Given the description of an element on the screen output the (x, y) to click on. 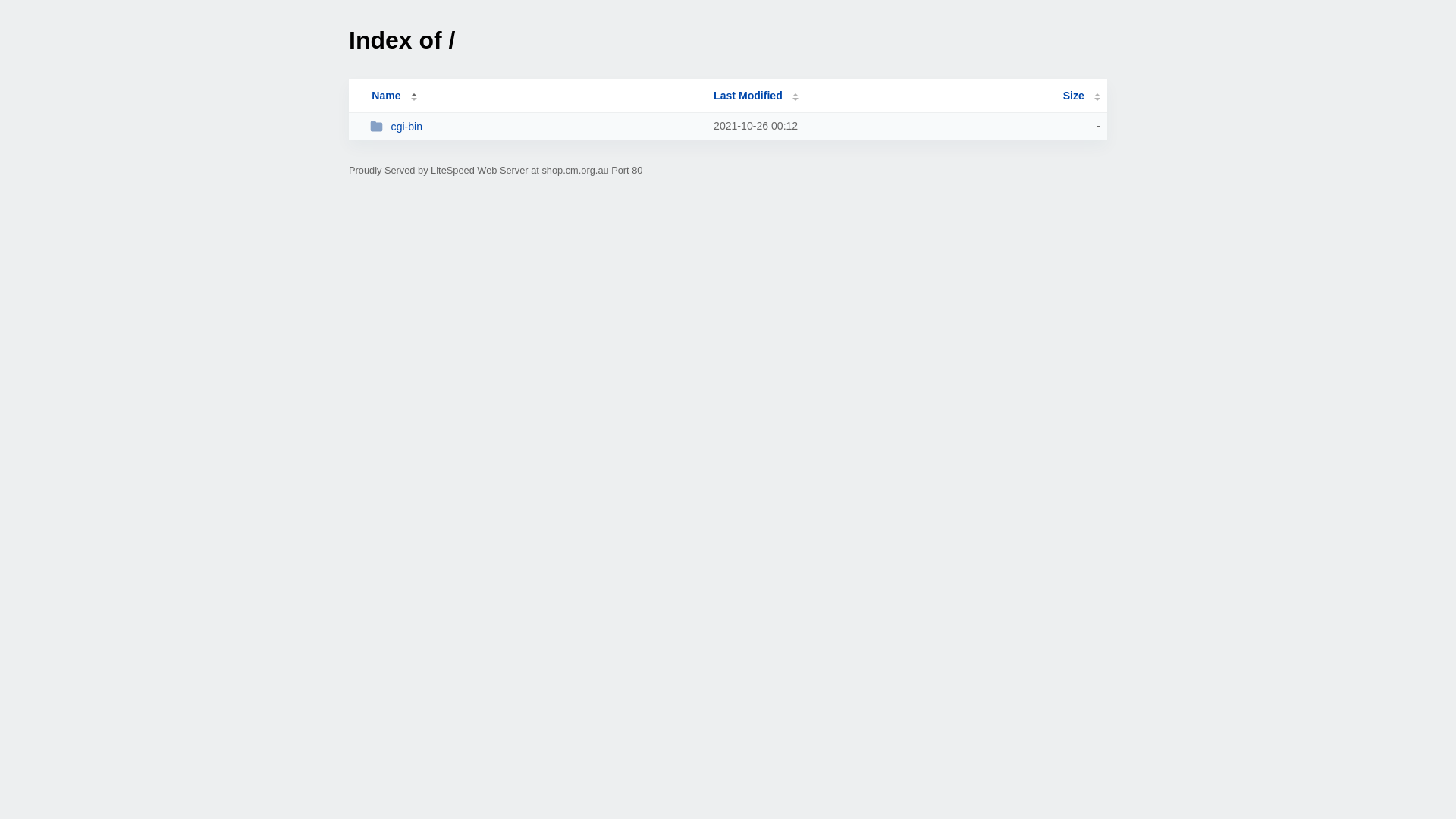
cgi-bin Element type: text (534, 125)
Name Element type: text (385, 95)
Last Modified Element type: text (755, 95)
Size Element type: text (1081, 95)
